Given the description of an element on the screen output the (x, y) to click on. 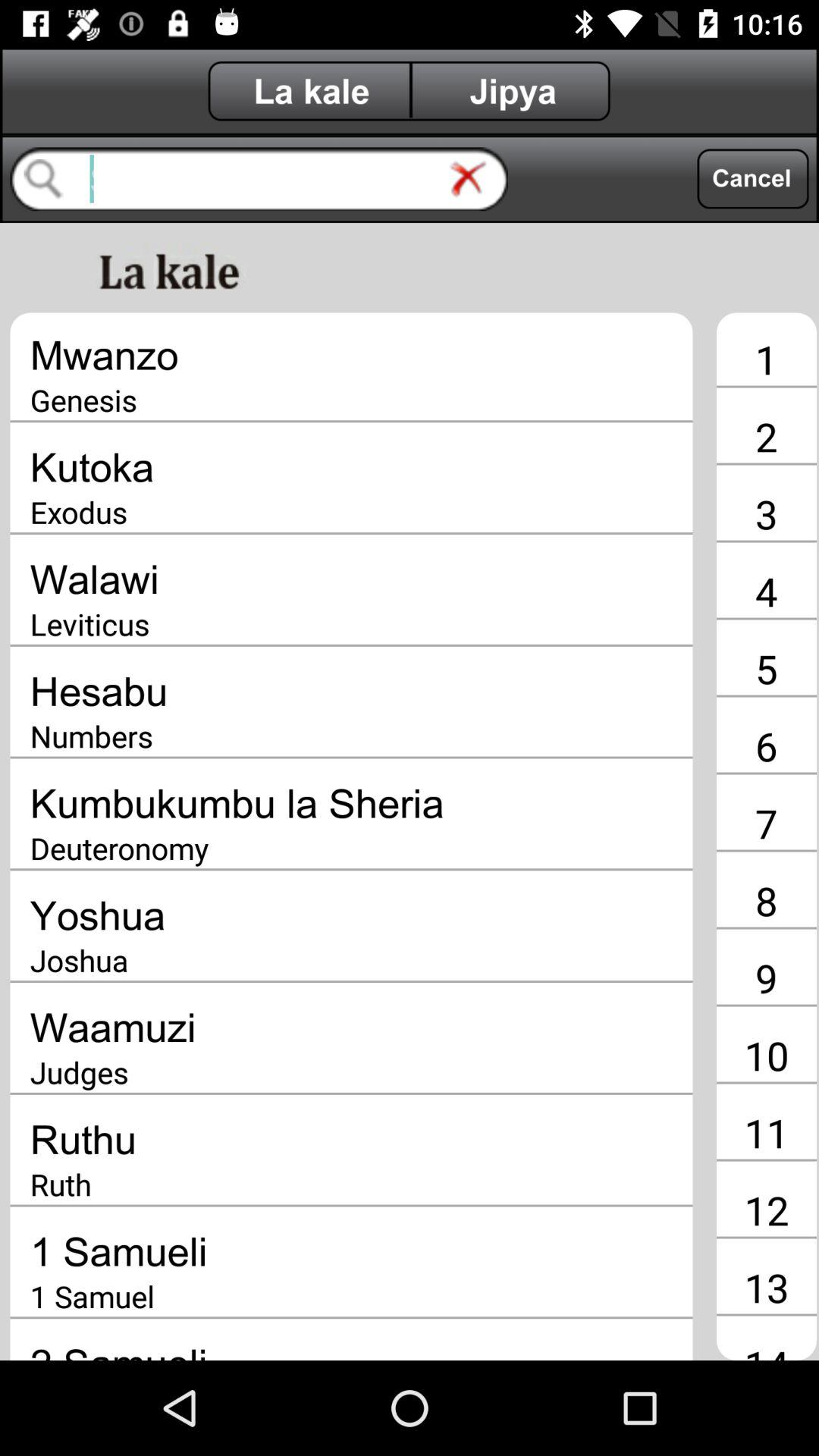
scroll to the 10 icon (766, 1054)
